Given the description of an element on the screen output the (x, y) to click on. 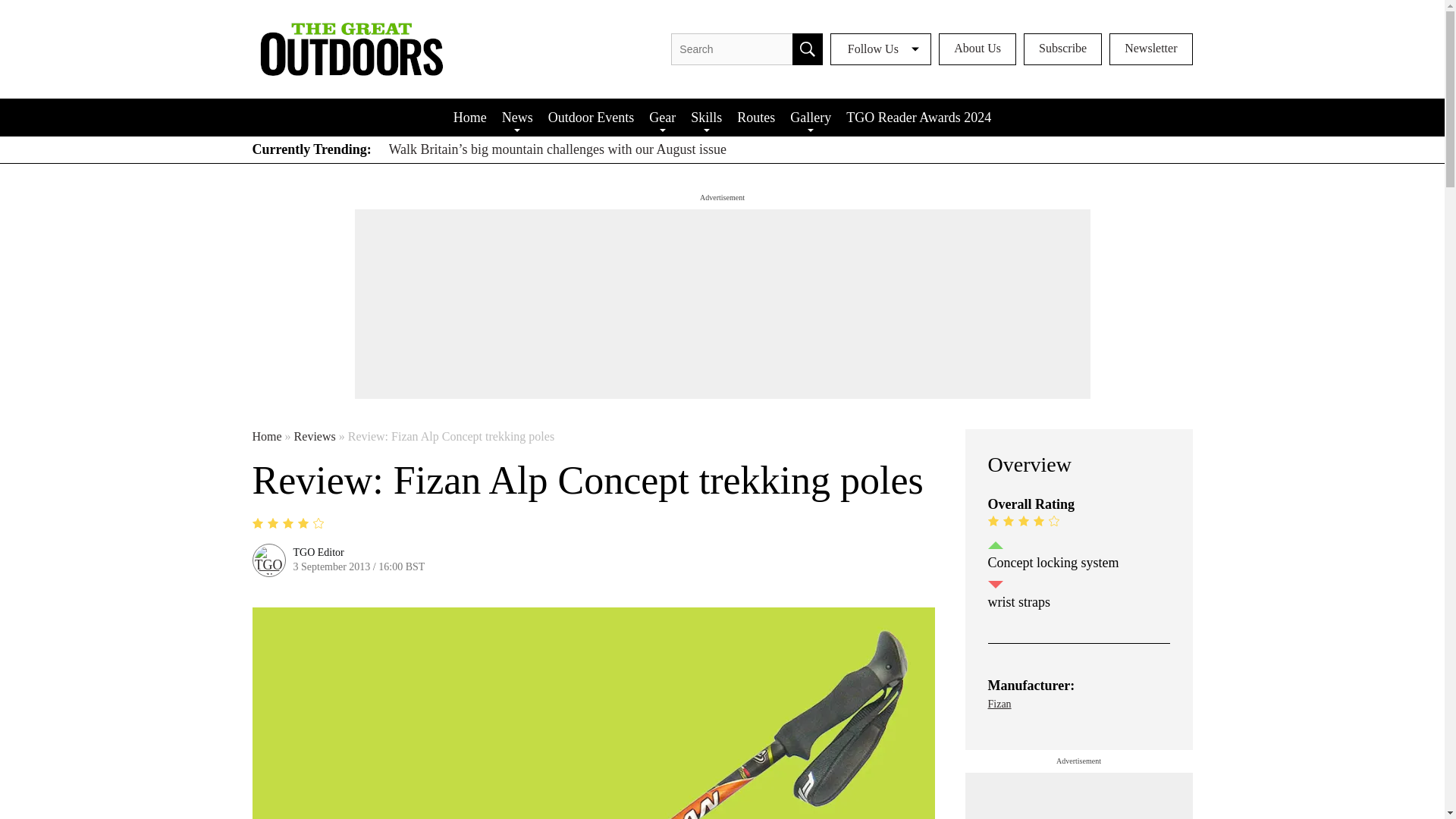
Follow Us (880, 49)
Routes (756, 117)
Outdoor Events (591, 117)
Gallery (810, 117)
About Us (977, 49)
Newsletter (1150, 49)
TGO Reader Awards 2024 (918, 117)
Gear (662, 117)
Home (470, 117)
Subscribe (1062, 49)
